Given the description of an element on the screen output the (x, y) to click on. 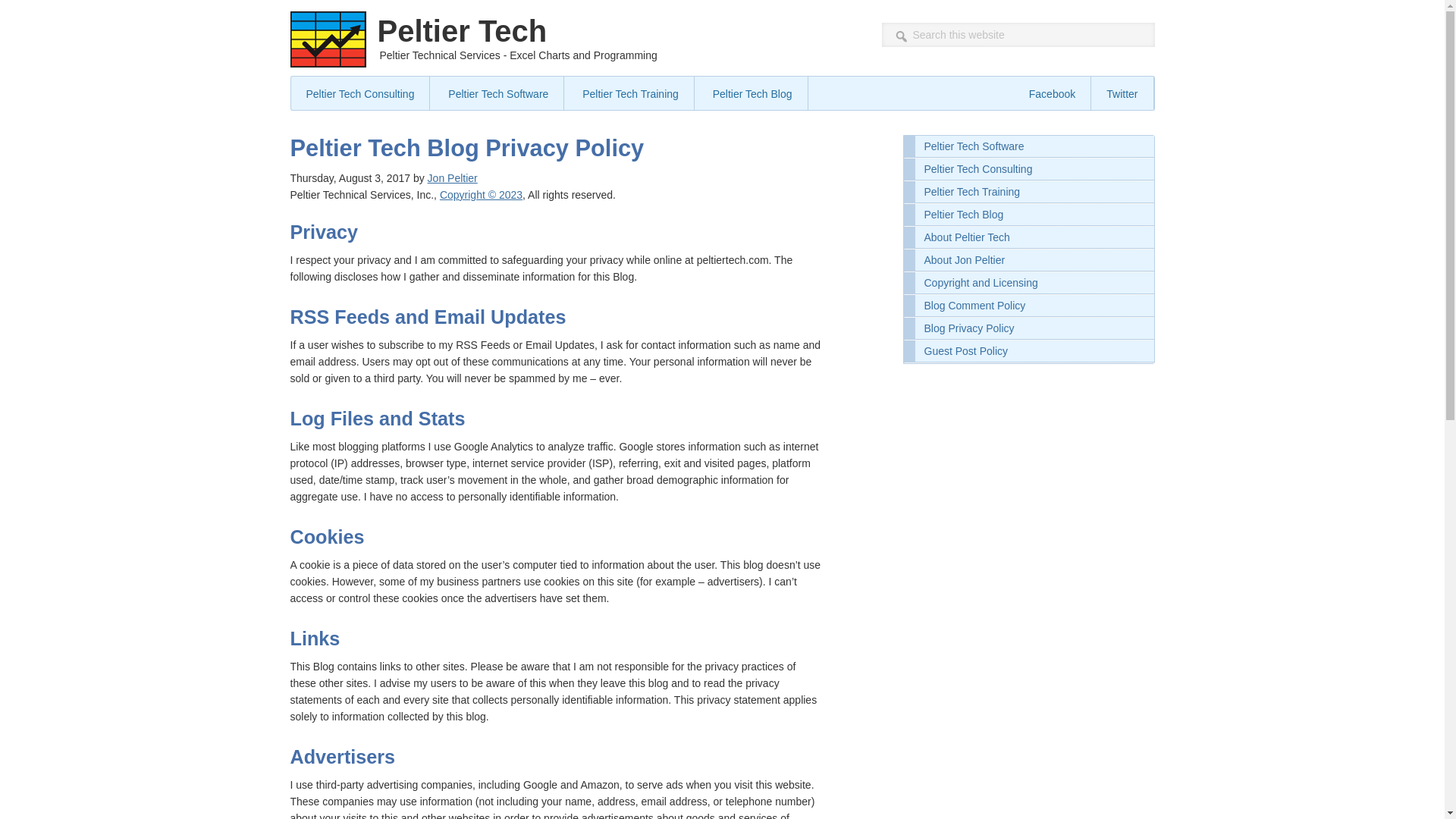
Peltier Tech Software (1029, 146)
Copyright and Licensing (480, 194)
Peltier Tech Consulting (360, 92)
Blog Comment Policy (1029, 305)
Learn Excel from Peltier Tech (630, 92)
Peltier Tech Software (498, 92)
About Peltier Tech (1029, 237)
Like Peltier Tech on Facebook (1051, 92)
Peltier Tech Consulting (1029, 169)
Guest Post Policy (1029, 351)
